Given the description of an element on the screen output the (x, y) to click on. 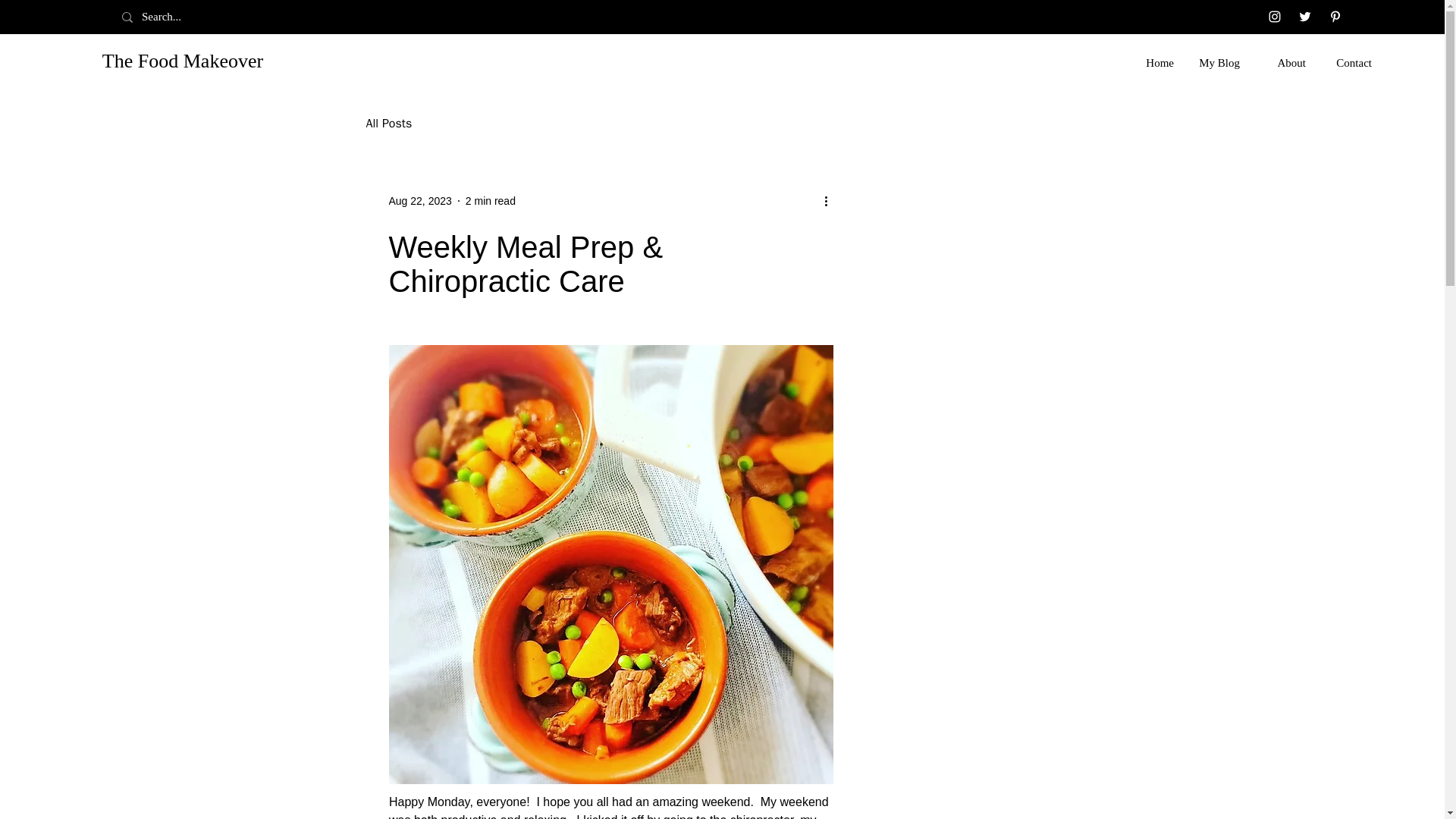
Aug 22, 2023 (419, 200)
2 min read (490, 200)
The Food Makeover (182, 60)
All Posts (388, 123)
Home (1152, 62)
Contact (1350, 62)
My Blog (1217, 62)
About (1283, 62)
